Given the description of an element on the screen output the (x, y) to click on. 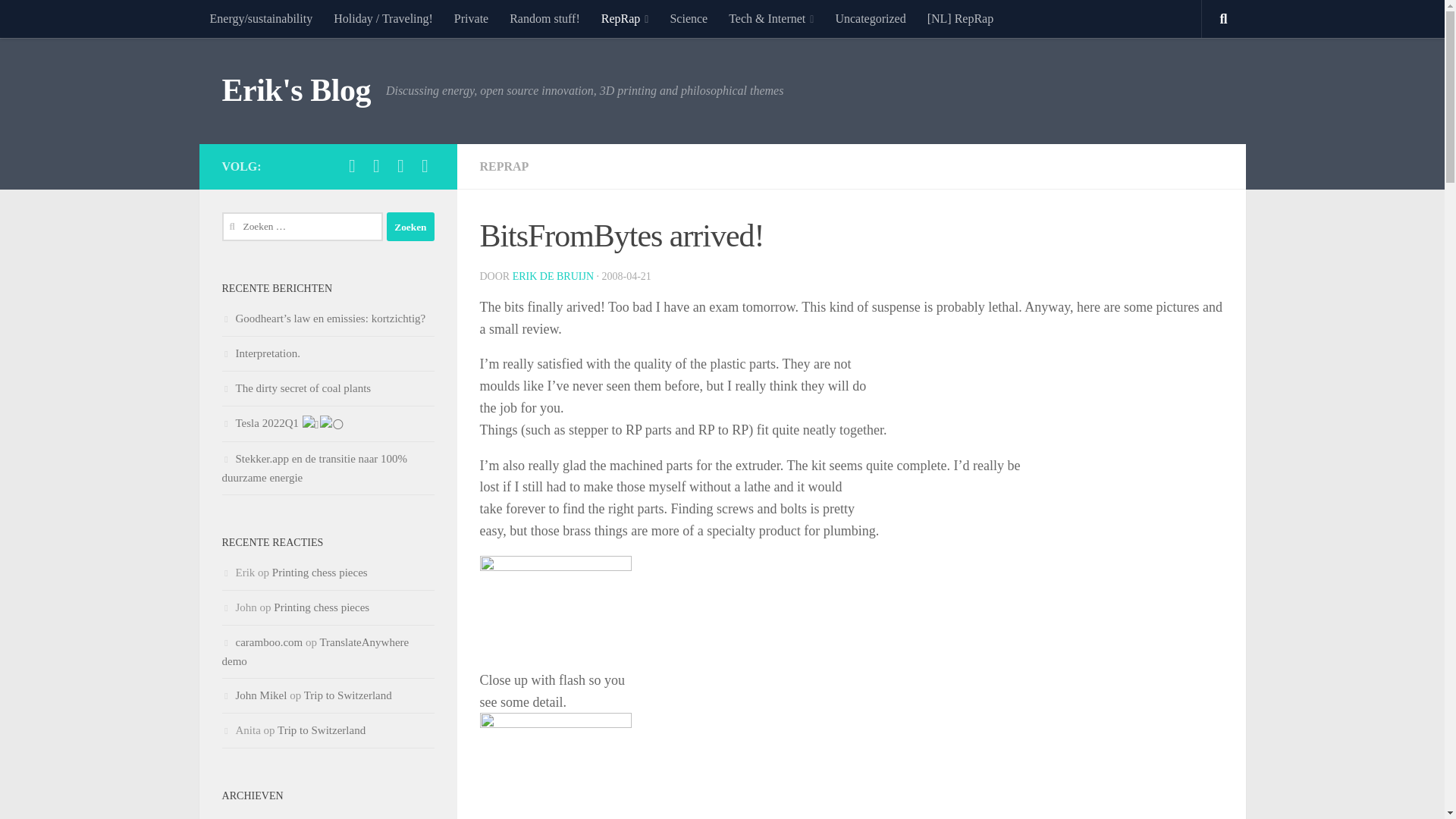
REPRAP (503, 165)
RepRap (625, 18)
Follow us on Google-plus (400, 166)
Erik's Blog (295, 90)
Berichten van Erik de Bruijn (553, 276)
Zoeken (410, 226)
Science (688, 18)
Follow us on Linkedin (375, 166)
Doorgaan naar inhoud (78, 20)
Follow us on Facebook (423, 166)
